Given the description of an element on the screen output the (x, y) to click on. 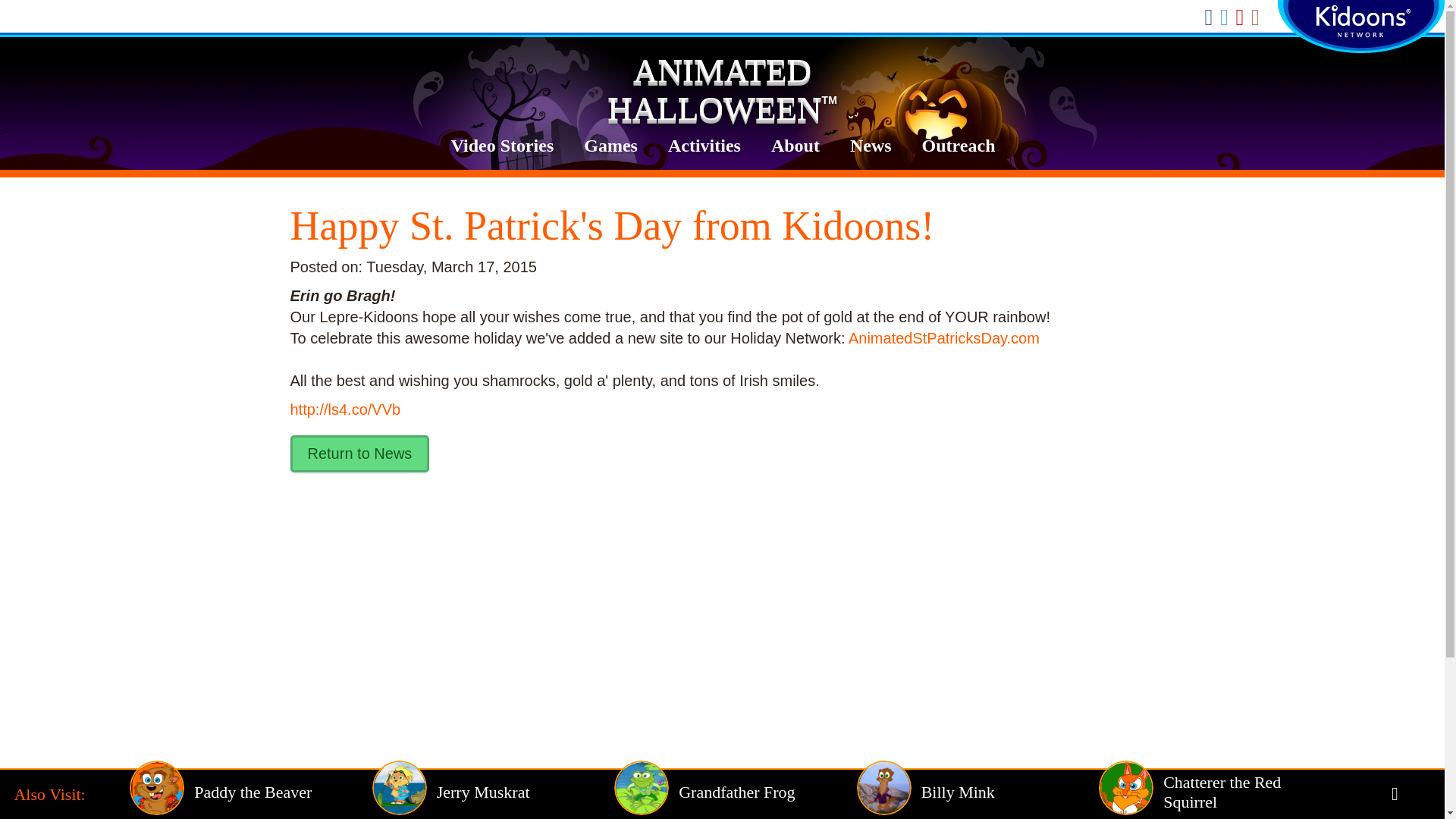
Outreach (958, 145)
AnimatedStPatricksDay.com (943, 338)
Games (610, 145)
Chatterer the Red Squirrel (1219, 791)
News (870, 145)
Video Stories (502, 145)
Jerry Muskrat (493, 791)
Paddy the Beaver (250, 791)
About (795, 145)
Billy Mink (978, 791)
Return to News (359, 453)
Activities (703, 145)
Grandfather Frog (735, 791)
